Given the description of an element on the screen output the (x, y) to click on. 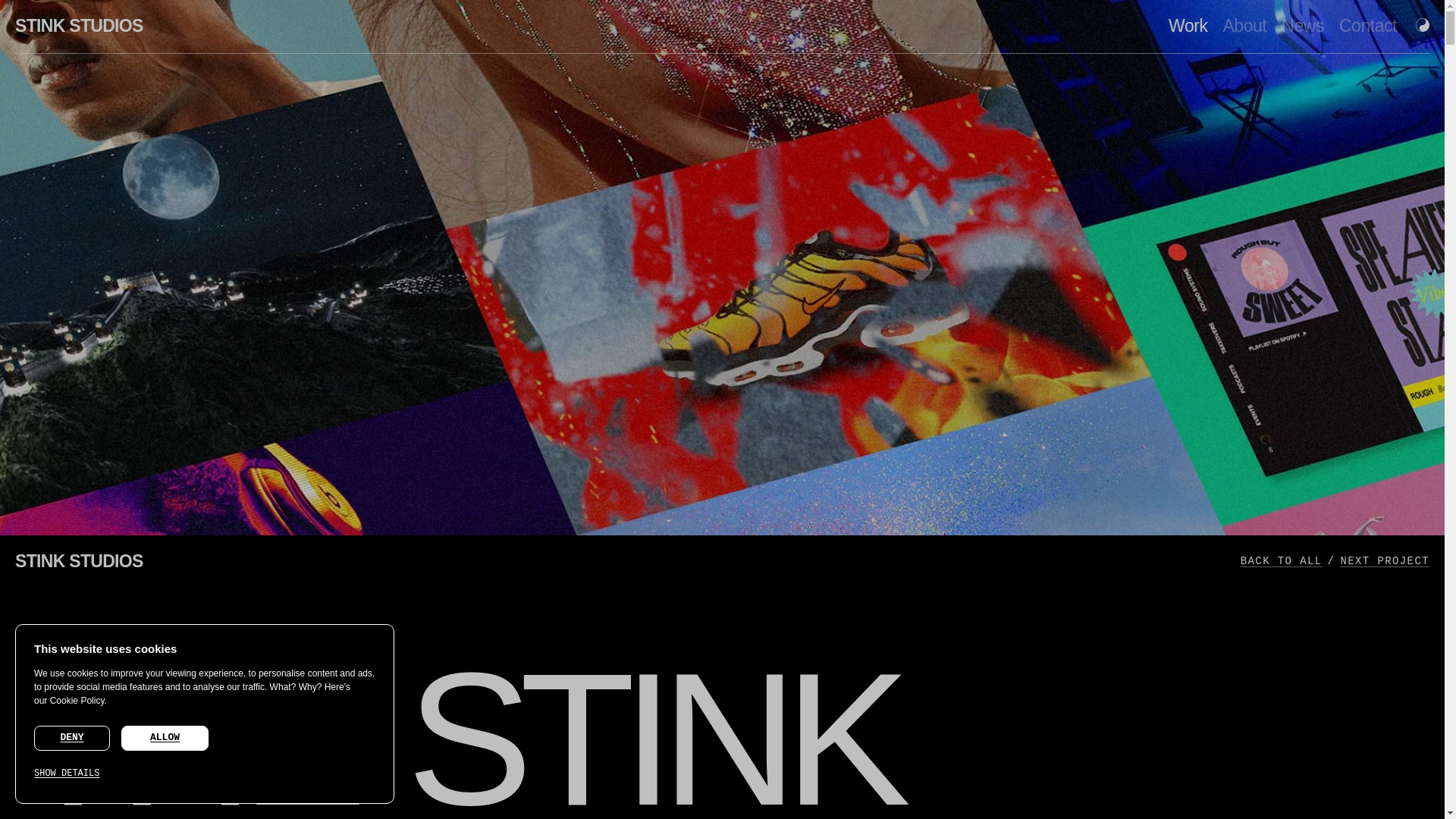
Work (1188, 25)
About (1244, 25)
Cookie Policy. (77, 706)
STINK STUDIOS (78, 25)
SHOW DETAILS (147, 773)
DENY (71, 738)
ALLOW (164, 738)
